Given the description of an element on the screen output the (x, y) to click on. 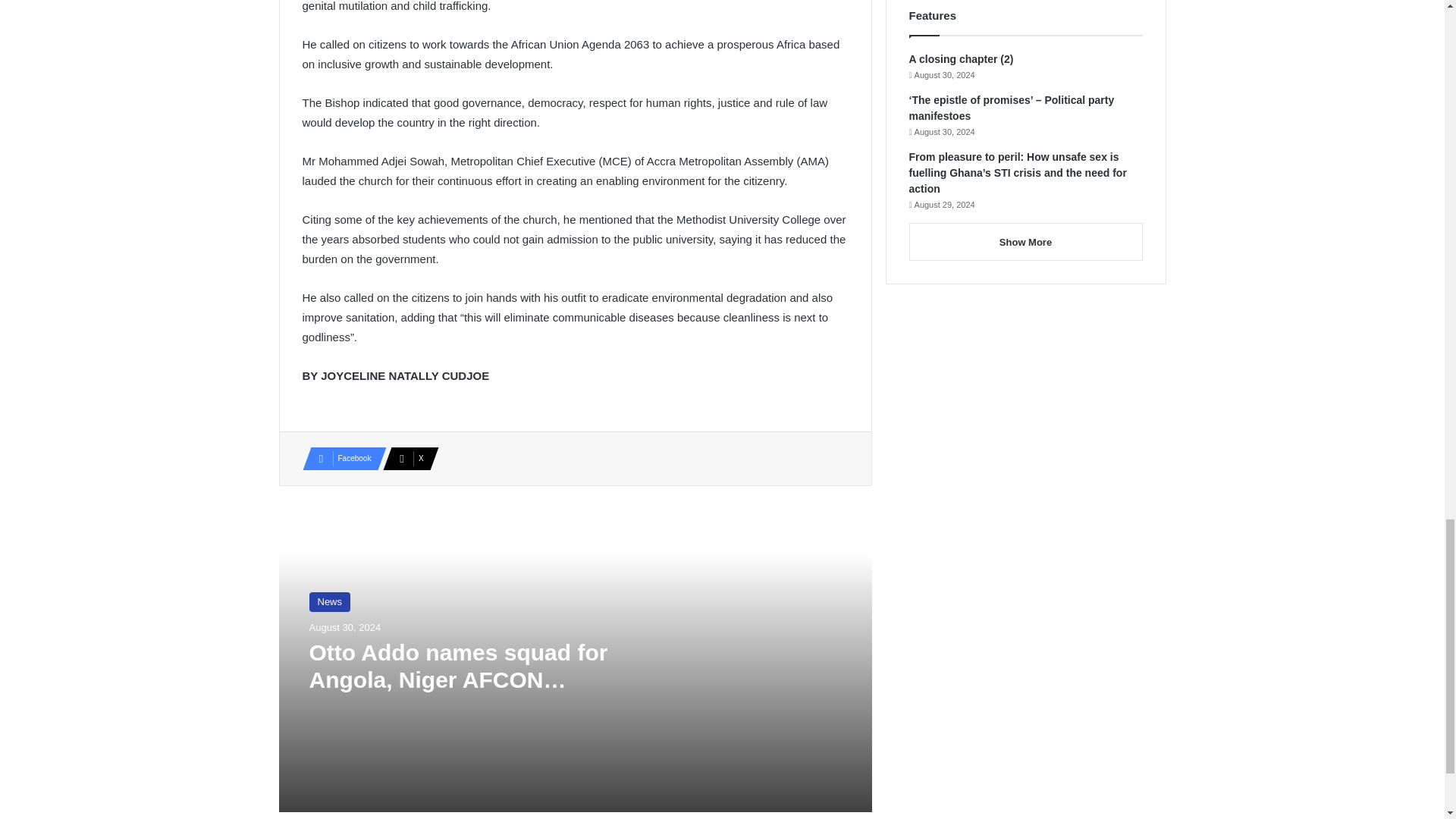
X (405, 458)
Facebook (339, 458)
News (329, 601)
Otto Addo names squad for Angola, Niger AFCON qualifiers (458, 679)
X (405, 458)
Facebook (339, 458)
